Given the description of an element on the screen output the (x, y) to click on. 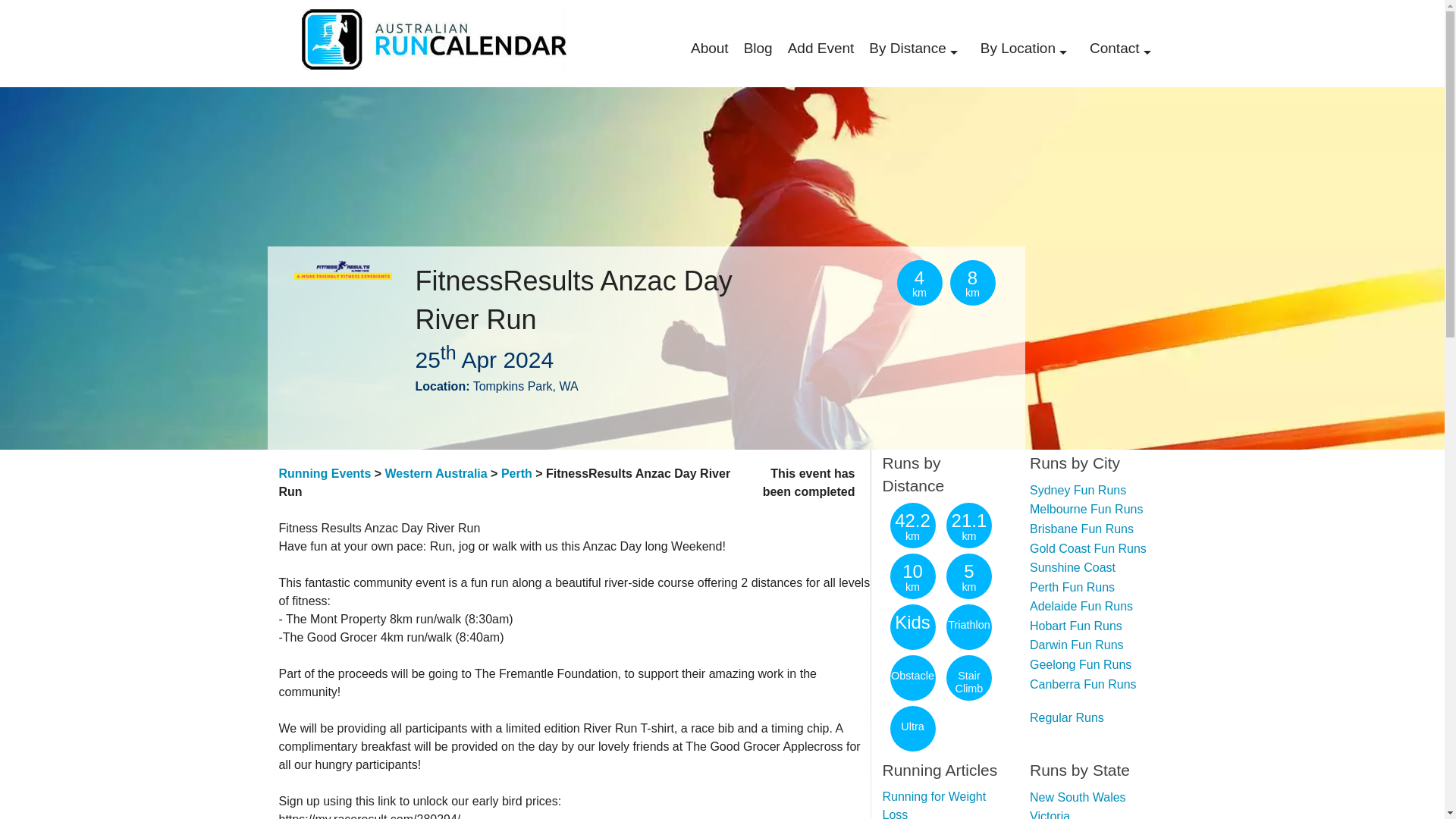
Gold Coast (1034, 544)
10k (924, 125)
Half Marathons (924, 99)
Perth (1034, 171)
Sunshine Coast (1034, 570)
ACT (1034, 421)
Stair Climbing (924, 254)
Geelong (1034, 519)
By Location (1026, 48)
Marathons (924, 73)
Adelaide fun runs (1034, 196)
New South Wales (1034, 293)
Northern Territory (1034, 473)
Sydney (1034, 94)
Queensland (1034, 344)
